Given the description of an element on the screen output the (x, y) to click on. 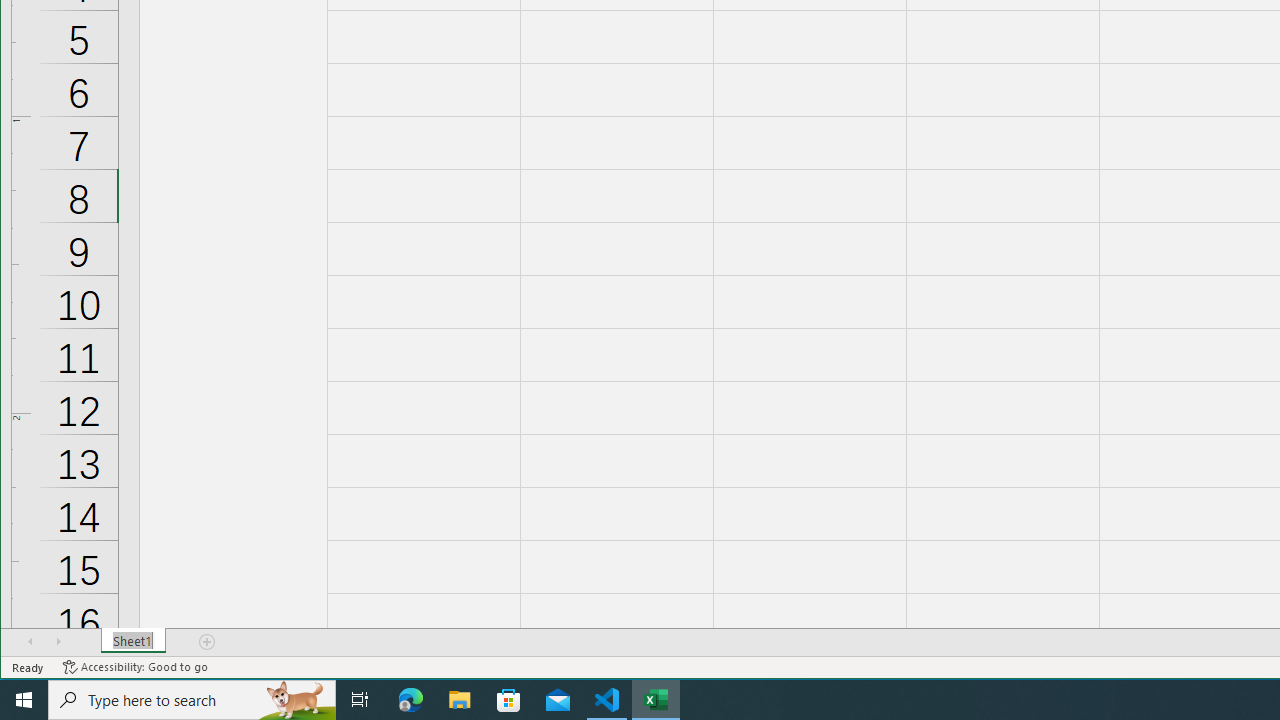
Sheet Tab (133, 641)
